Given the description of an element on the screen output the (x, y) to click on. 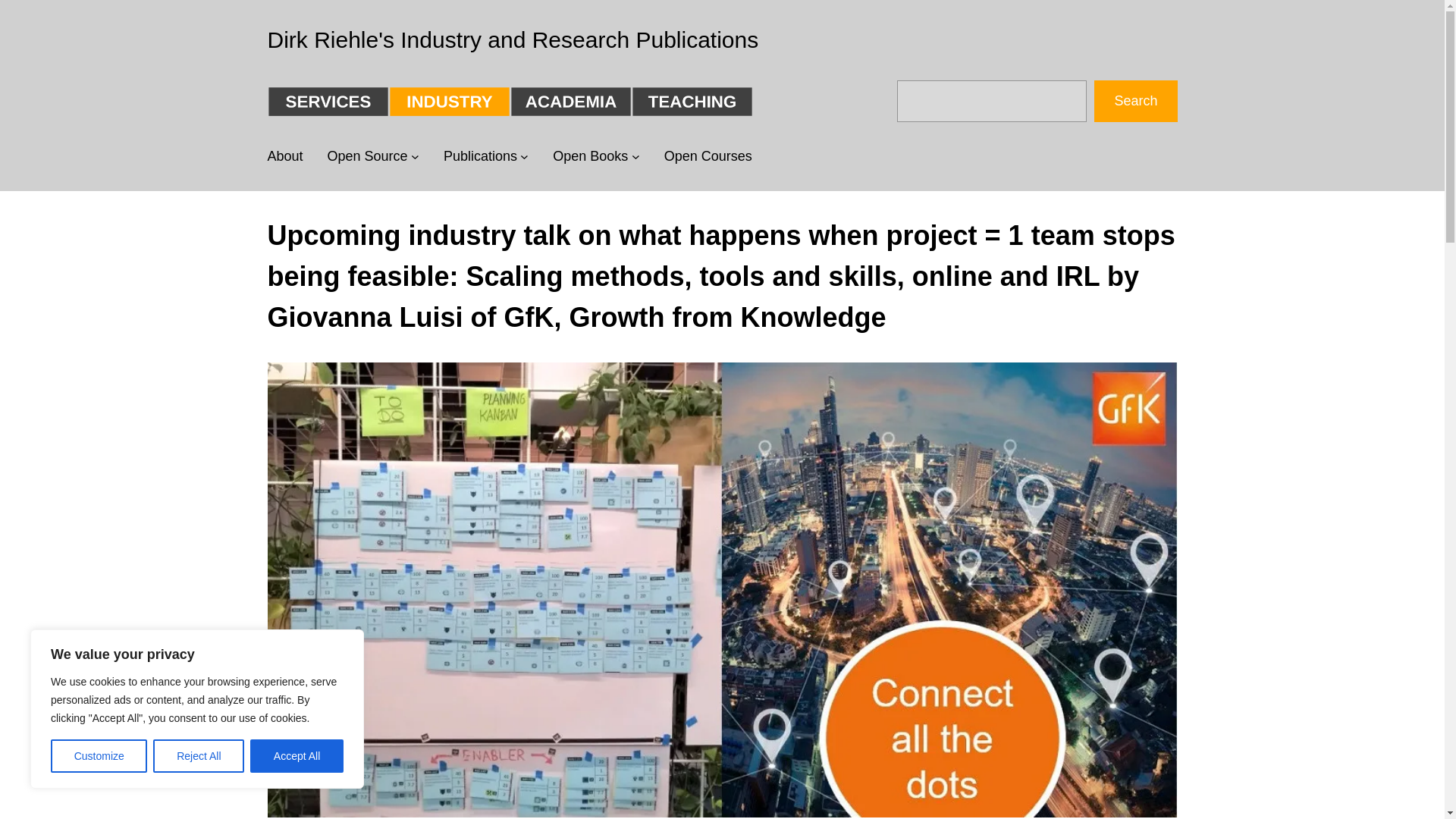
Accept All (296, 756)
Dirk Riehle's Industry and Research Publications (512, 39)
Reject All (198, 756)
Open Source (367, 156)
Publications (480, 156)
Search (1135, 101)
Customize (98, 756)
About (284, 156)
